Given the description of an element on the screen output the (x, y) to click on. 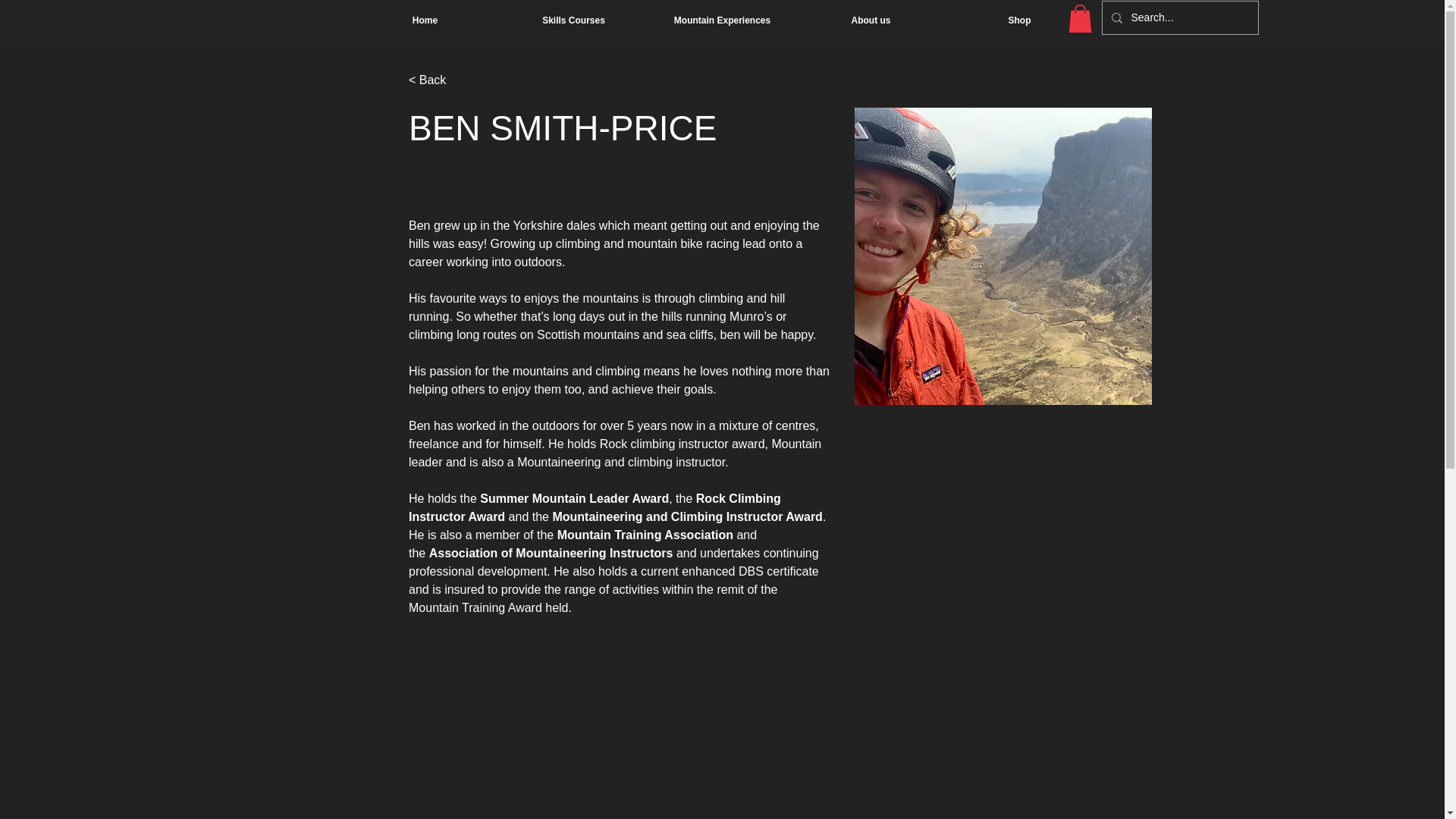
Mountain Experiences (721, 20)
About us (870, 20)
Home (424, 20)
Skills Courses (573, 20)
Shop (1018, 20)
